Given the description of an element on the screen output the (x, y) to click on. 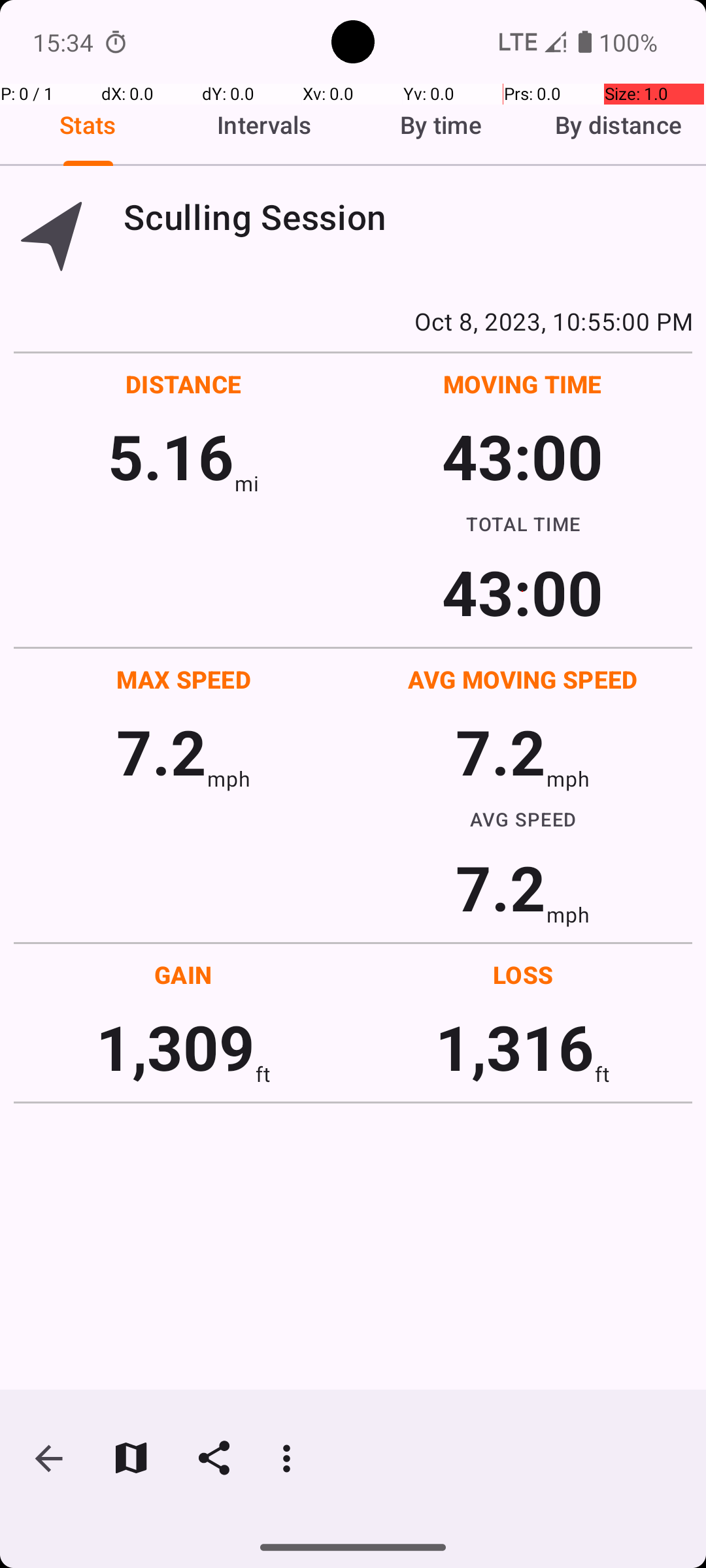
Sculling Session Element type: android.widget.TextView (407, 216)
Oct 8, 2023, 10:55:00 PM Element type: android.widget.TextView (352, 320)
5.16 Element type: android.widget.TextView (170, 455)
43:00 Element type: android.widget.TextView (522, 455)
7.2 Element type: android.widget.TextView (161, 750)
1,309 Element type: android.widget.TextView (175, 1045)
1,316 Element type: android.widget.TextView (514, 1045)
